Given the description of an element on the screen output the (x, y) to click on. 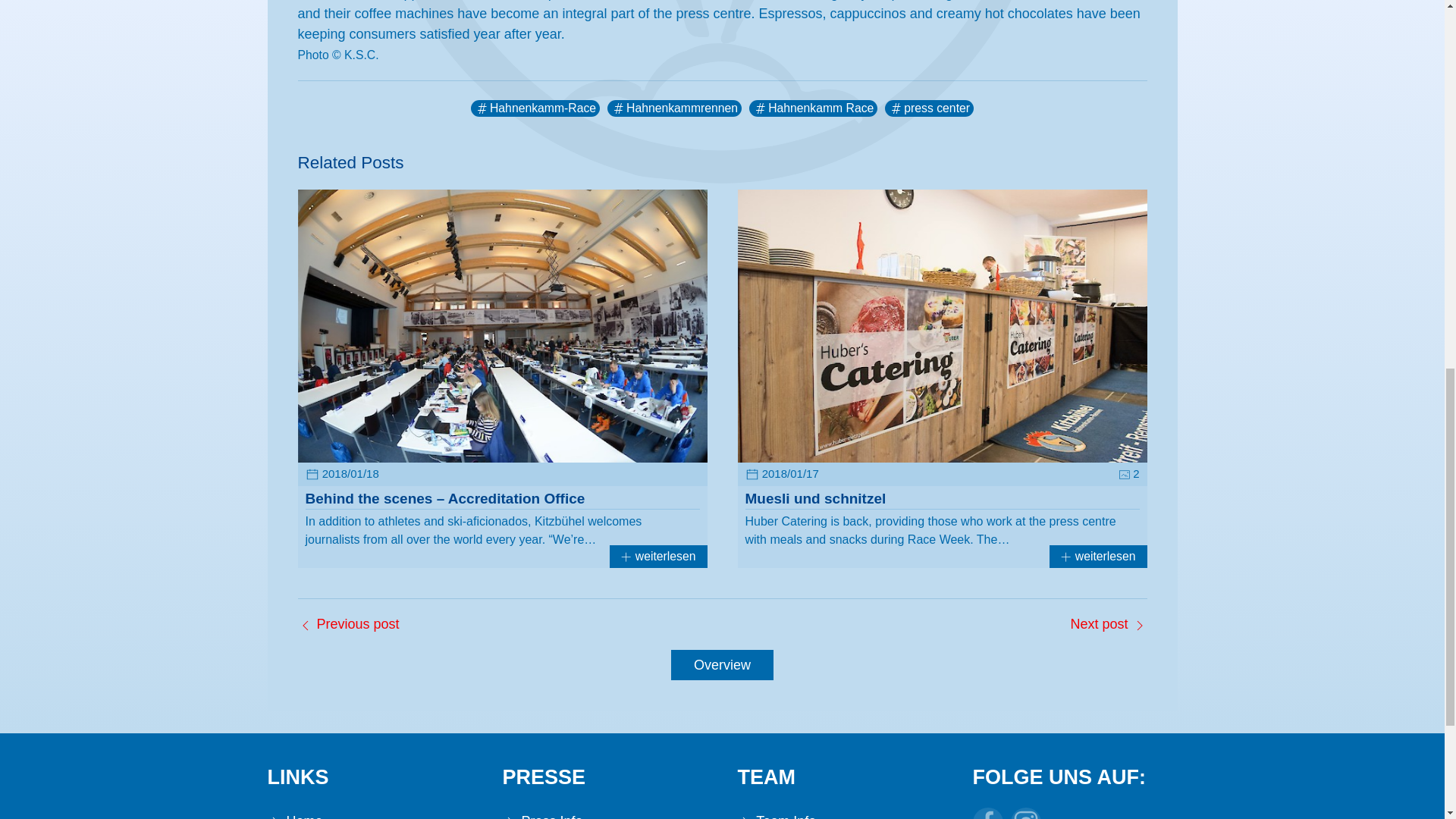
Hahnenkamm-Race (534, 108)
